Given the description of an element on the screen output the (x, y) to click on. 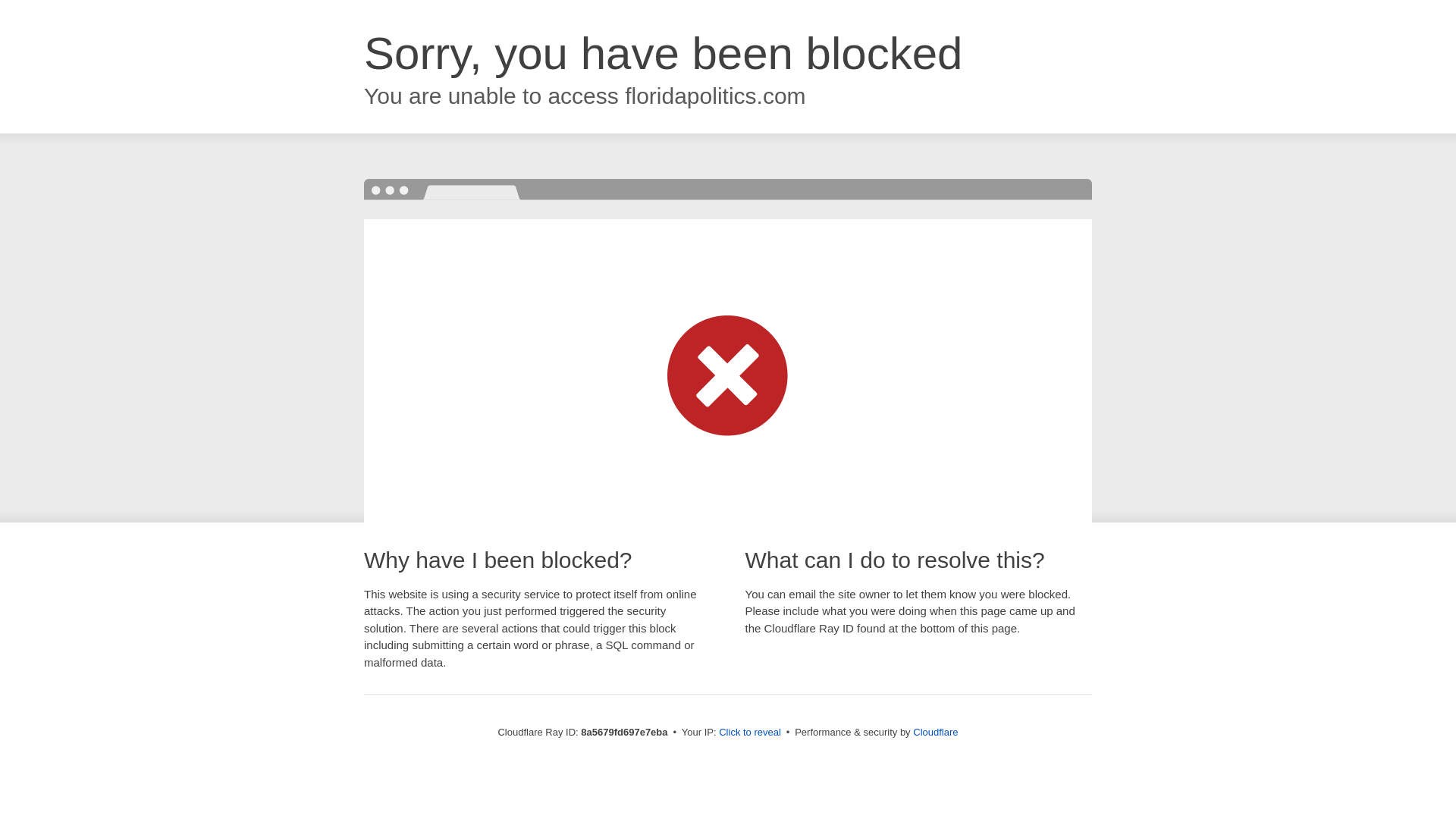
Click to reveal (749, 732)
Cloudflare (935, 731)
